Given the description of an element on the screen output the (x, y) to click on. 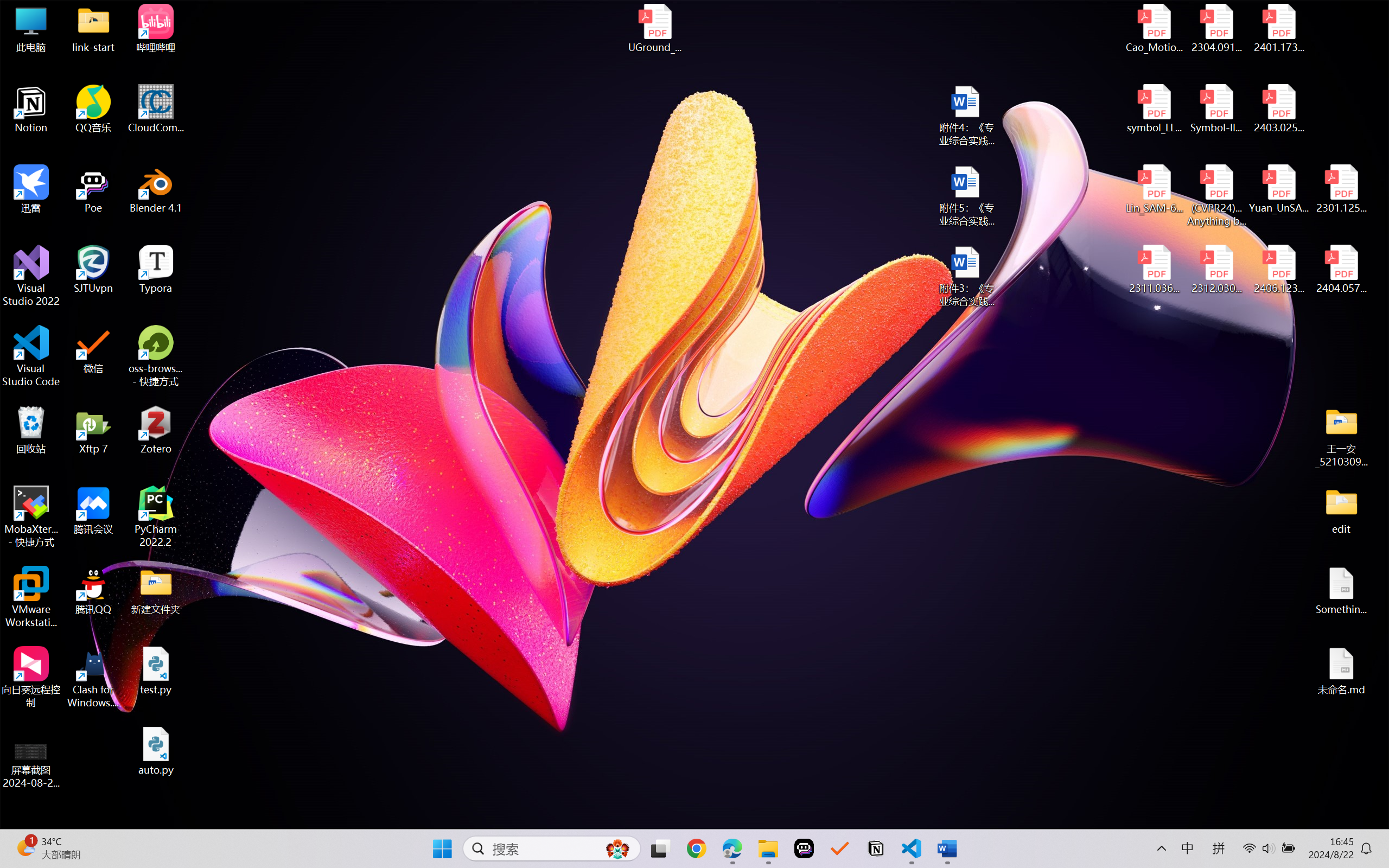
symbol_LLM.pdf (1154, 109)
Something.md (1340, 591)
edit (1340, 510)
Symbol-llm-v2.pdf (1216, 109)
2403.02502v1.pdf (1278, 109)
PyCharm 2022.2 (156, 516)
(CVPR24)Matching Anything by Segmenting Anything.pdf (1216, 195)
